Given the description of an element on the screen output the (x, y) to click on. 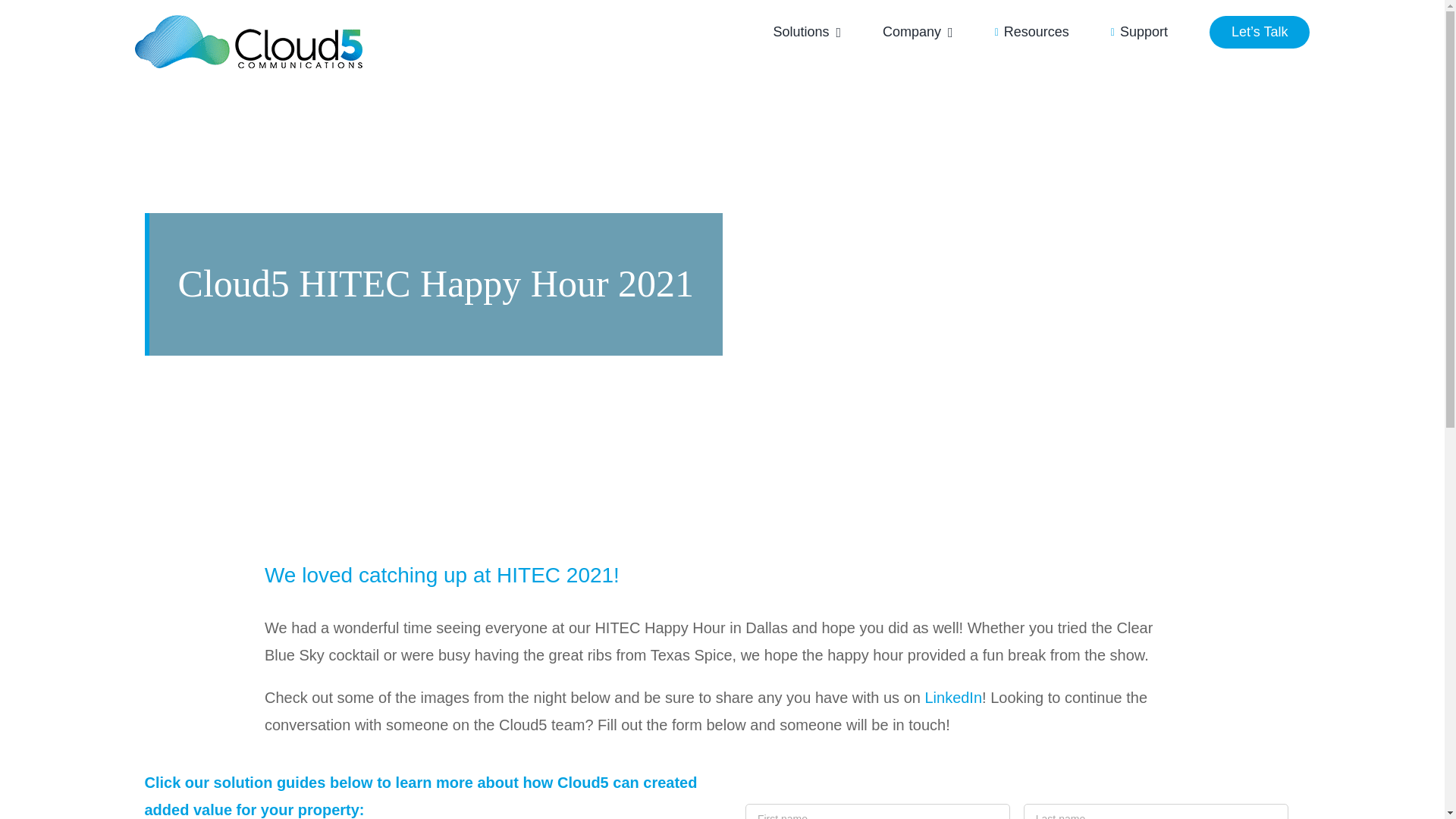
LinkedIn (952, 697)
Solutions (807, 31)
Company (917, 31)
Resources (1031, 31)
Support (1138, 31)
